Given the description of an element on the screen output the (x, y) to click on. 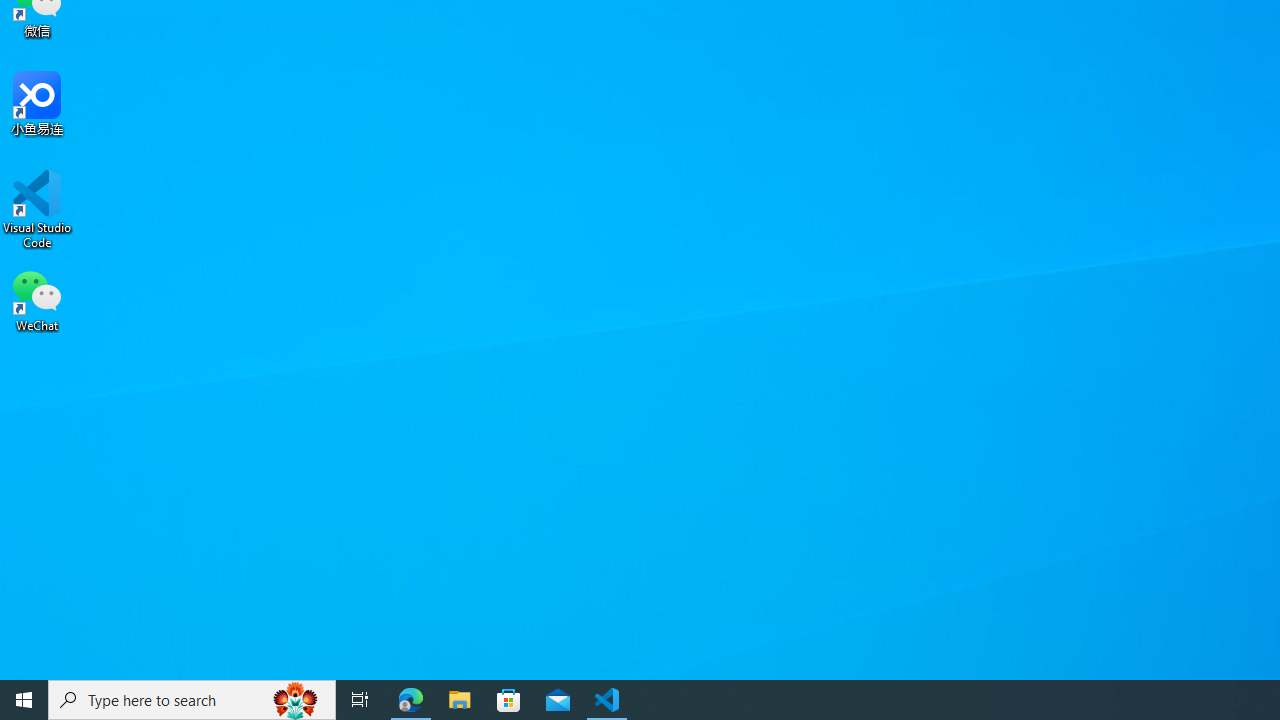
WeChat (37, 299)
Visual Studio Code (37, 209)
